Given the description of an element on the screen output the (x, y) to click on. 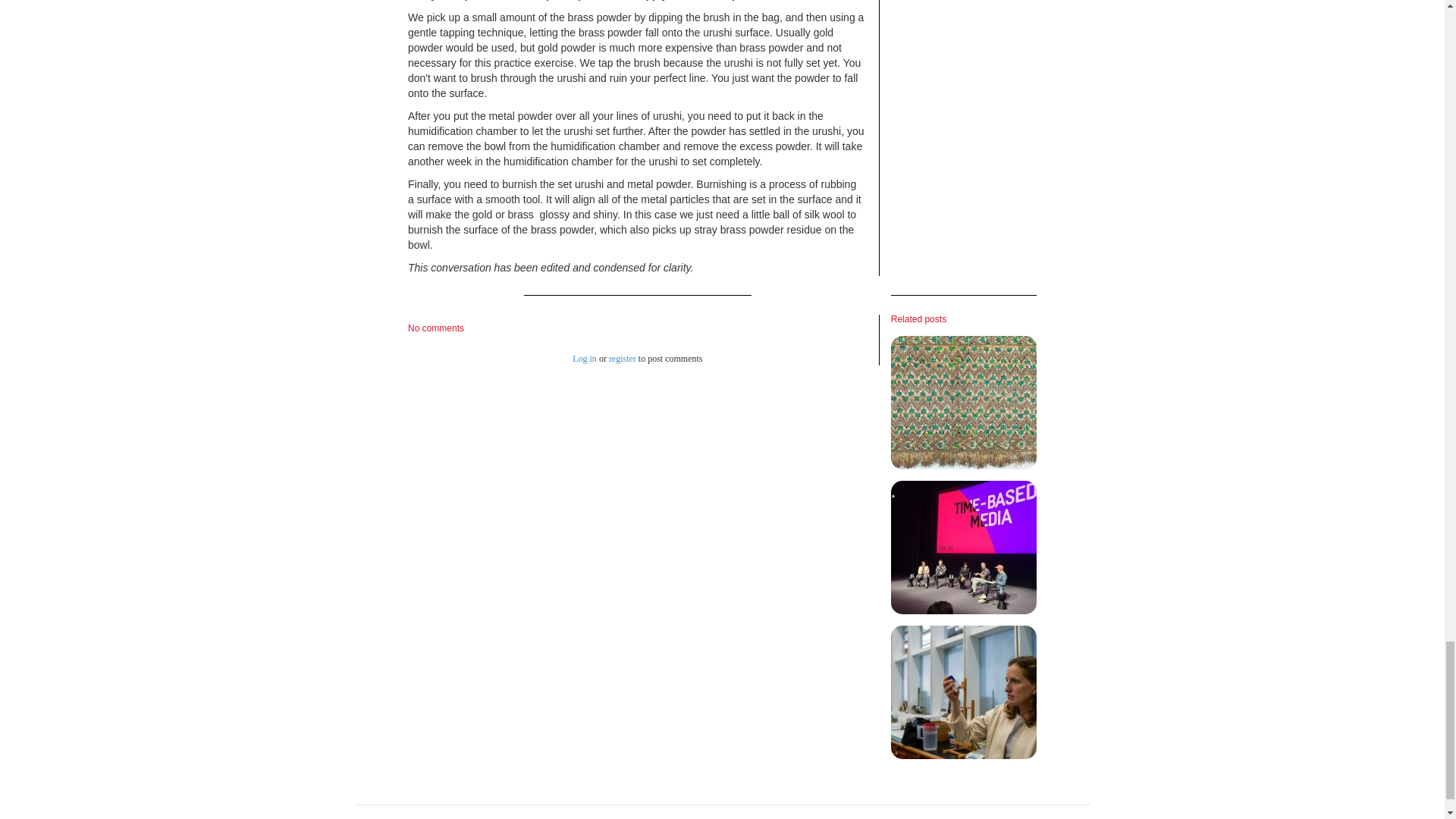
Here Come the Beetle Wings (963, 402)
register (622, 357)
Log in (584, 357)
     Nanogels and Nanomaterials in the Field of Conservation (963, 692)
